Given the description of an element on the screen output the (x, y) to click on. 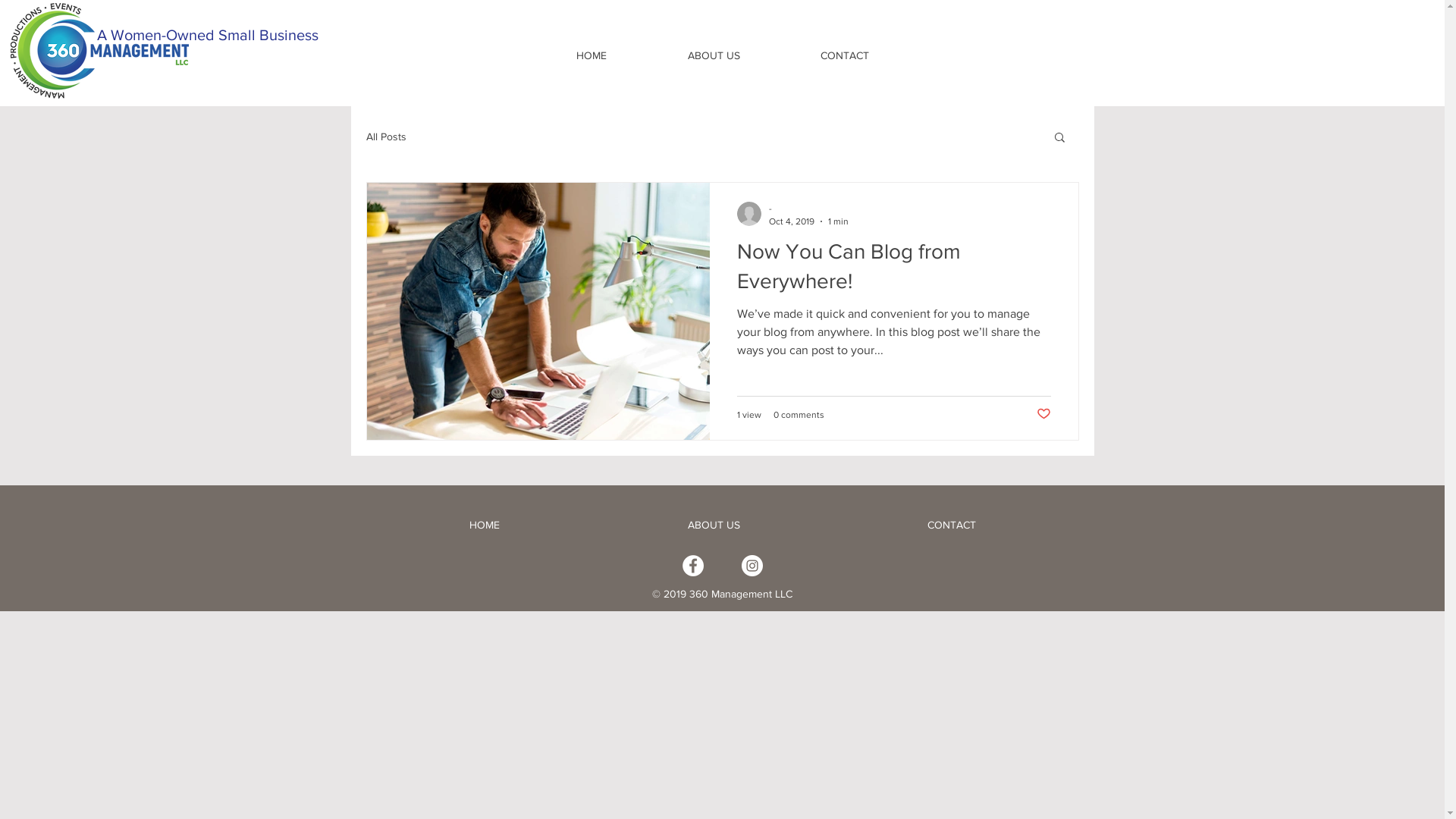
Post not marked as liked Element type: text (1042, 414)
0 comments Element type: text (798, 414)
CONTACT Element type: text (952, 524)
- Element type: text (808, 208)
HOME Element type: text (483, 524)
ABOUT US Element type: text (713, 55)
CONTACT Element type: text (843, 55)
ABOUT US Element type: text (713, 524)
HOME Element type: text (590, 55)
All Posts Element type: text (385, 136)
Now You Can Blog from Everywhere! Element type: text (894, 269)
